Given the description of an element on the screen output the (x, y) to click on. 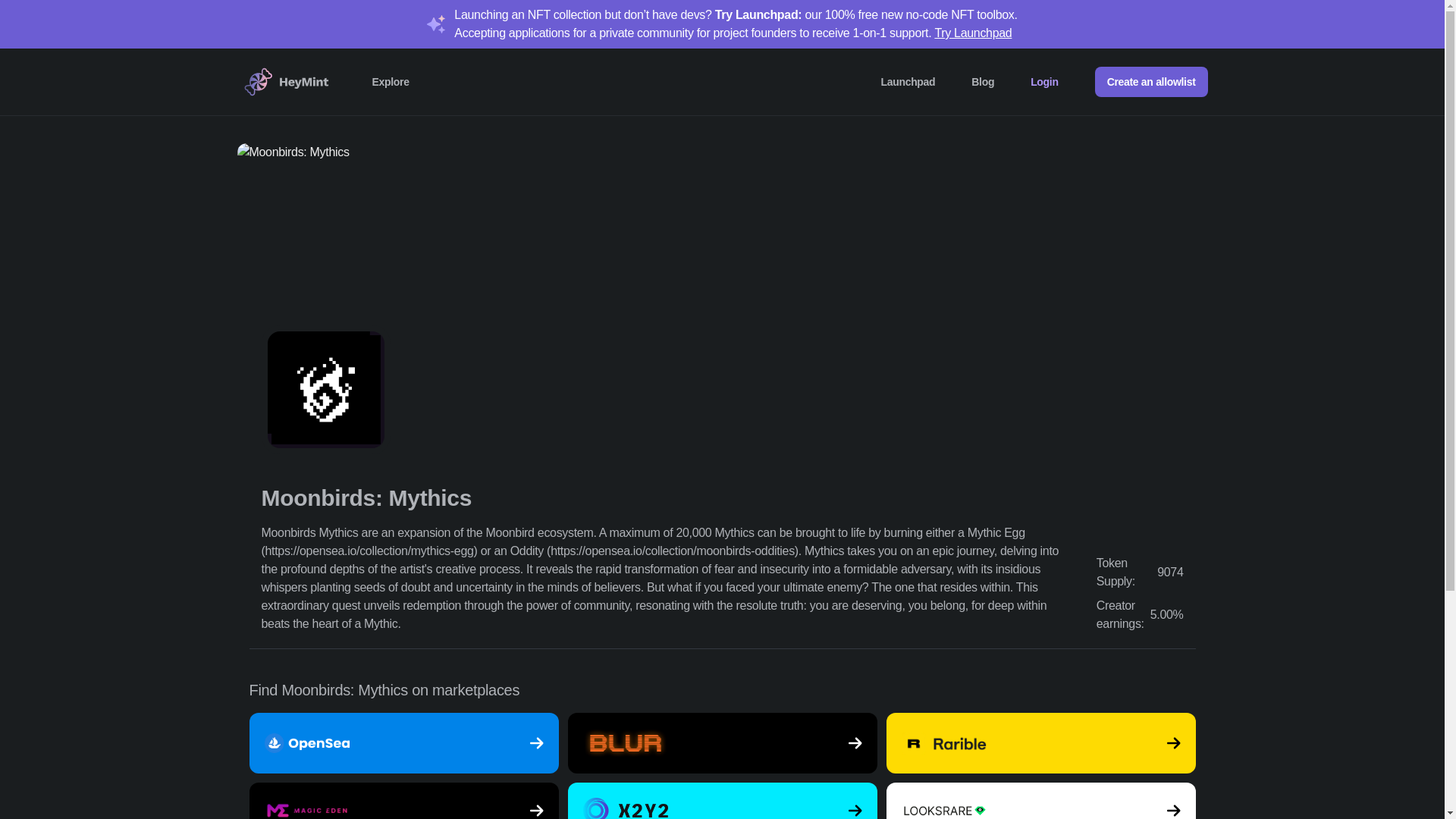
Create an allowlist (1151, 81)
Launchpad (908, 81)
Login (1044, 81)
Blog (982, 81)
Explore (390, 81)
